Given the description of an element on the screen output the (x, y) to click on. 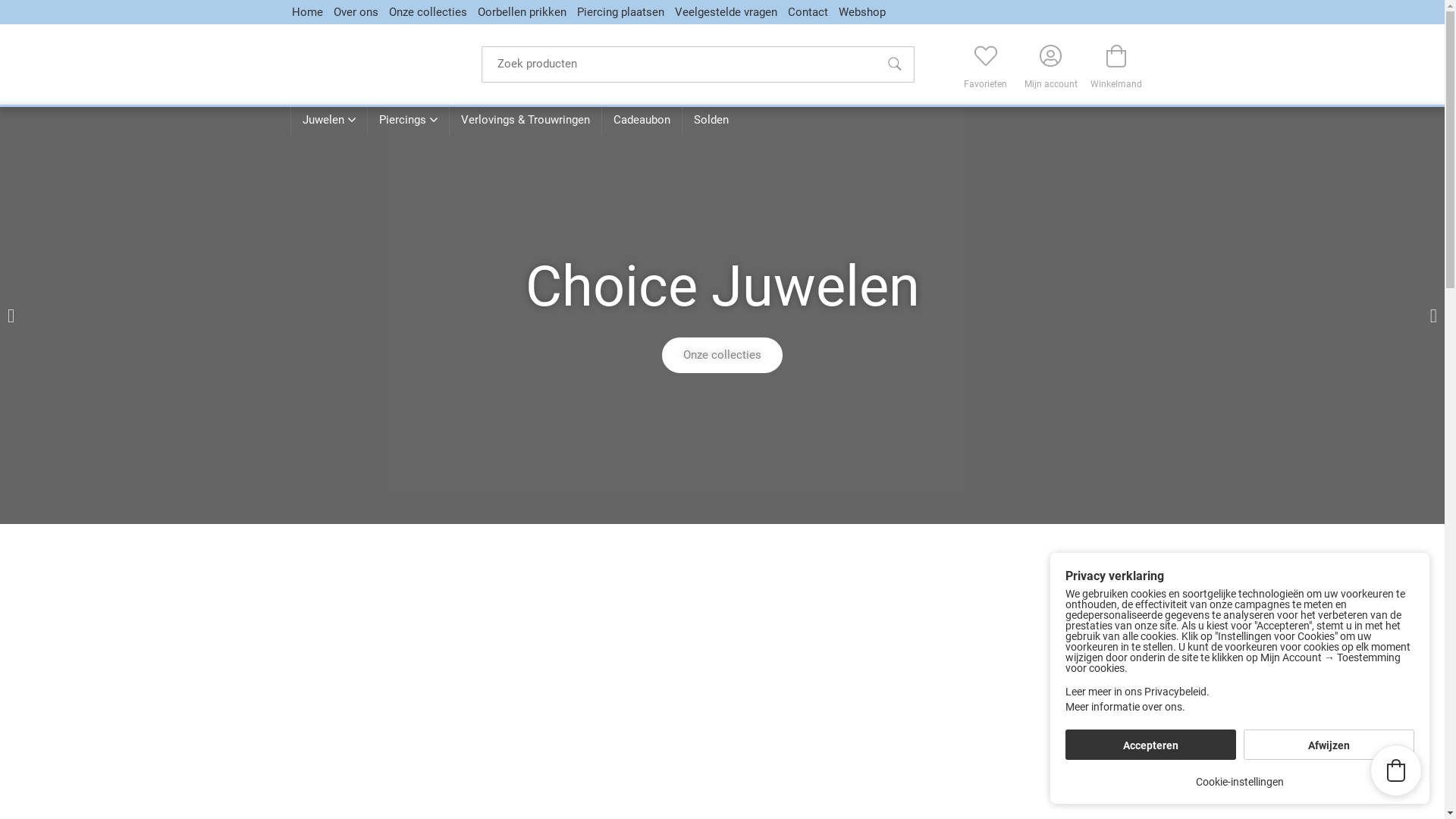
Over ons Element type: text (355, 11)
Onze collecties Element type: text (722, 354)
Home Element type: text (306, 11)
Veelgestelde vragen Element type: text (725, 11)
Piercings Element type: text (407, 119)
Oorbellen prikken Element type: text (521, 11)
Leer meer in ons Privacybeleid. Element type: text (1239, 691)
Cadeaubon Element type: text (640, 119)
Contact Element type: text (806, 11)
Accepteren Element type: text (1150, 744)
Piercing plaatsen Element type: text (619, 11)
Solden Element type: text (709, 119)
Juwelen Element type: text (327, 119)
Afwijzen Element type: text (1328, 744)
Onze collecties Element type: text (426, 11)
Webshop Element type: text (862, 11)
Cookie-instellingen Element type: text (1239, 781)
Meer informatie over ons. Element type: text (1239, 707)
Verlovings & Trouwringen Element type: text (524, 119)
